Given the description of an element on the screen output the (x, y) to click on. 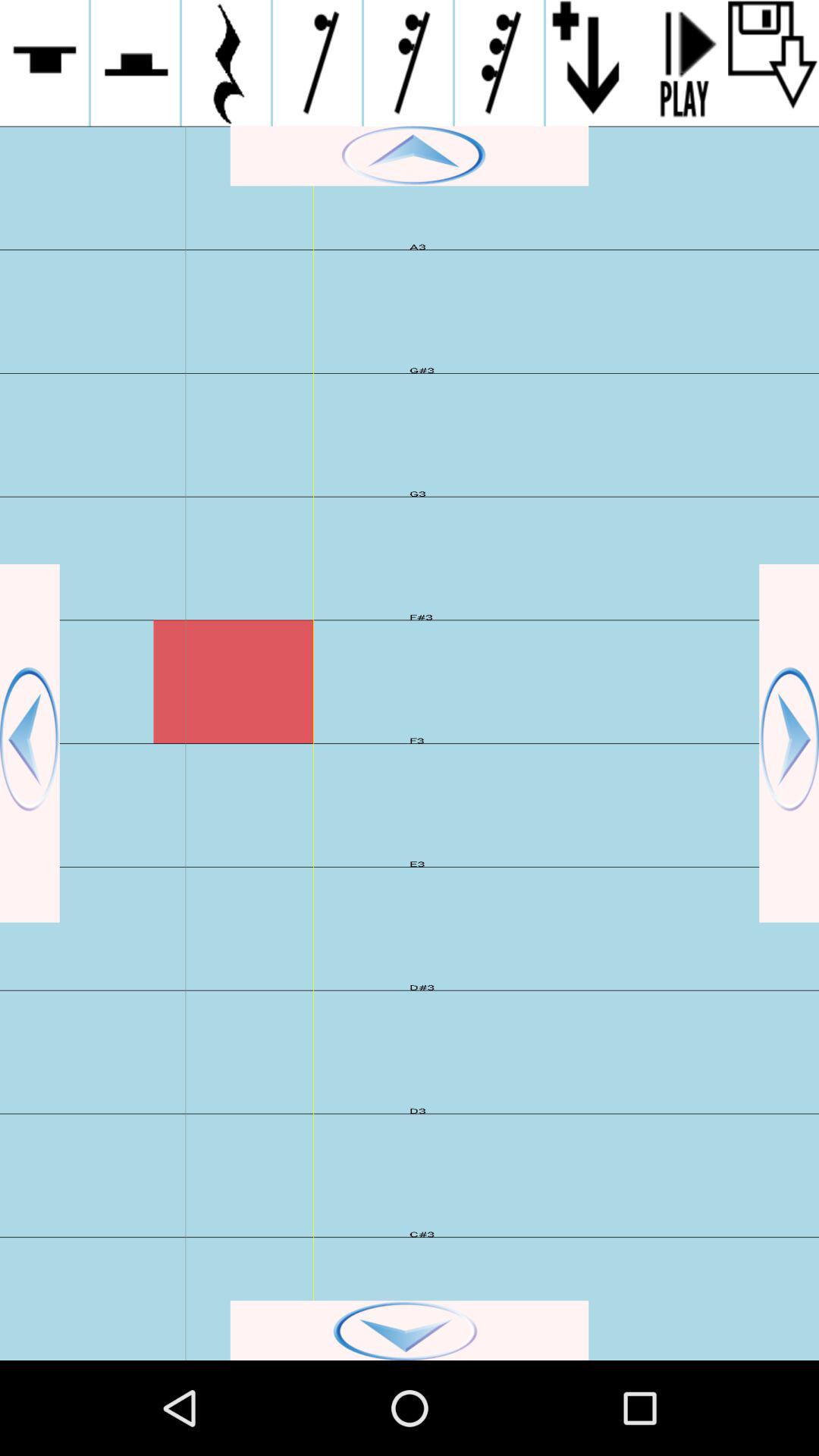
move screen up (409, 155)
